Given the description of an element on the screen output the (x, y) to click on. 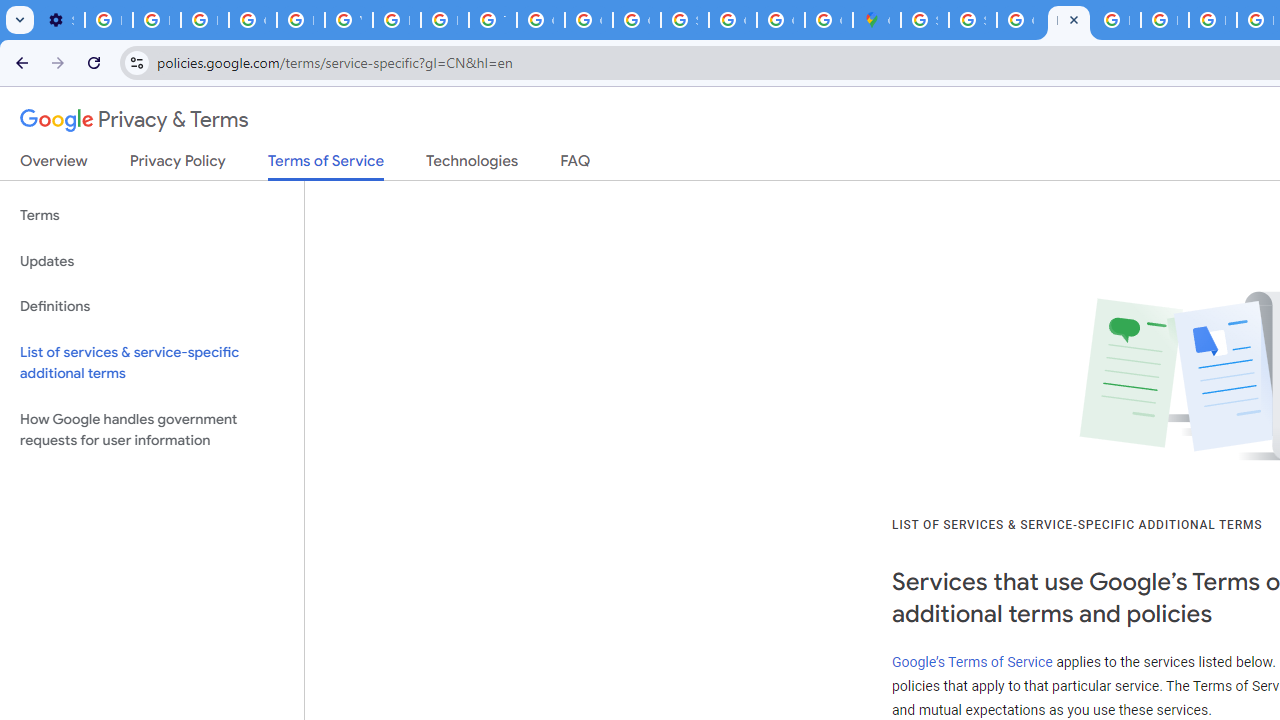
Privacy Help Center - Policies Help (300, 20)
Blogger Policies and Guidelines - Transparency Center (1116, 20)
Delete photos & videos - Computer - Google Photos Help (108, 20)
Settings - Customize profile (60, 20)
YouTube (348, 20)
